Given the description of an element on the screen output the (x, y) to click on. 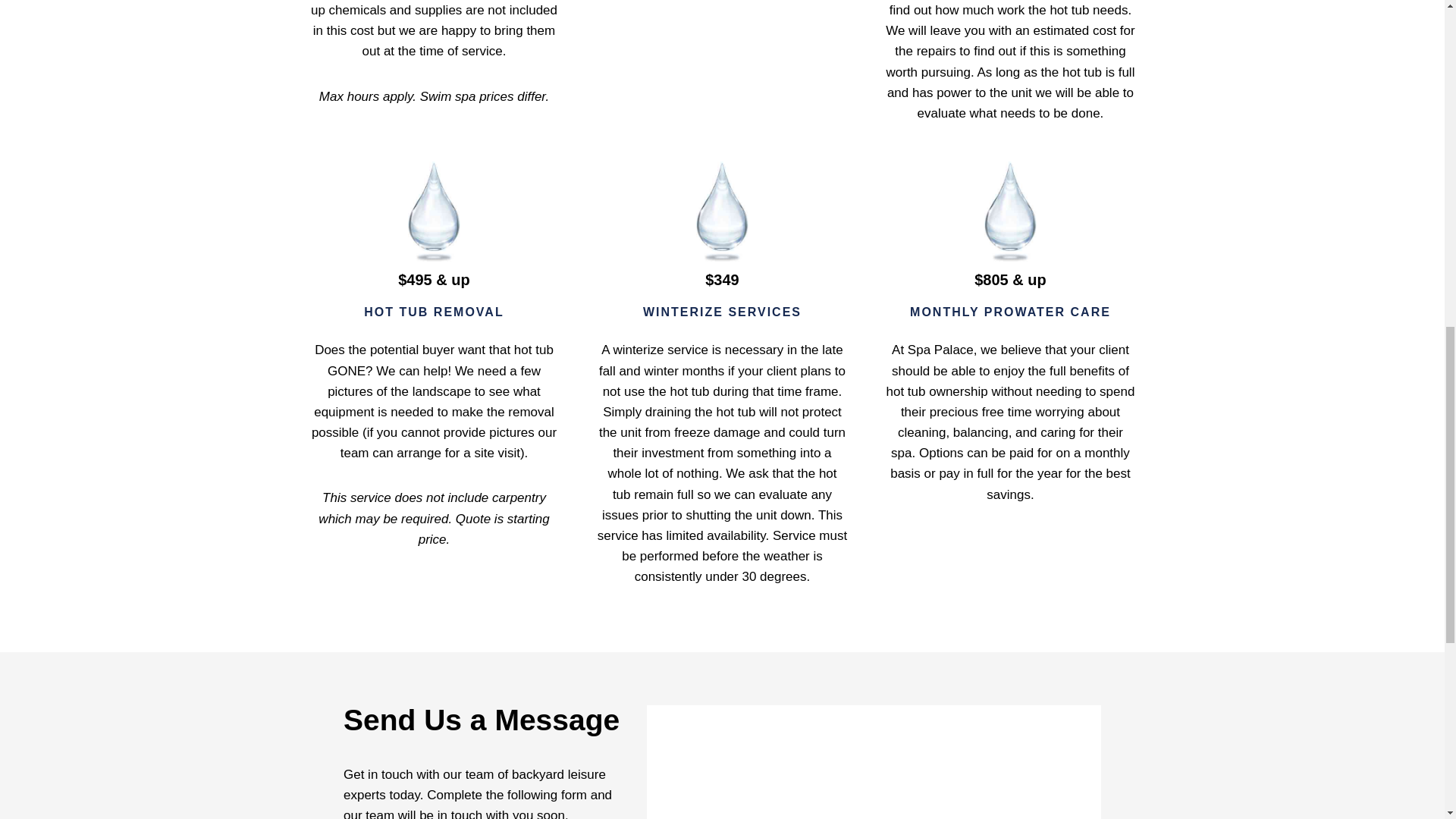
Services for Realtors - Spa Palace (721, 211)
Services for Realtors - Spa Palace (1010, 211)
Service Request (873, 789)
Services for Realtors - Spa Palace (433, 211)
